Given the description of an element on the screen output the (x, y) to click on. 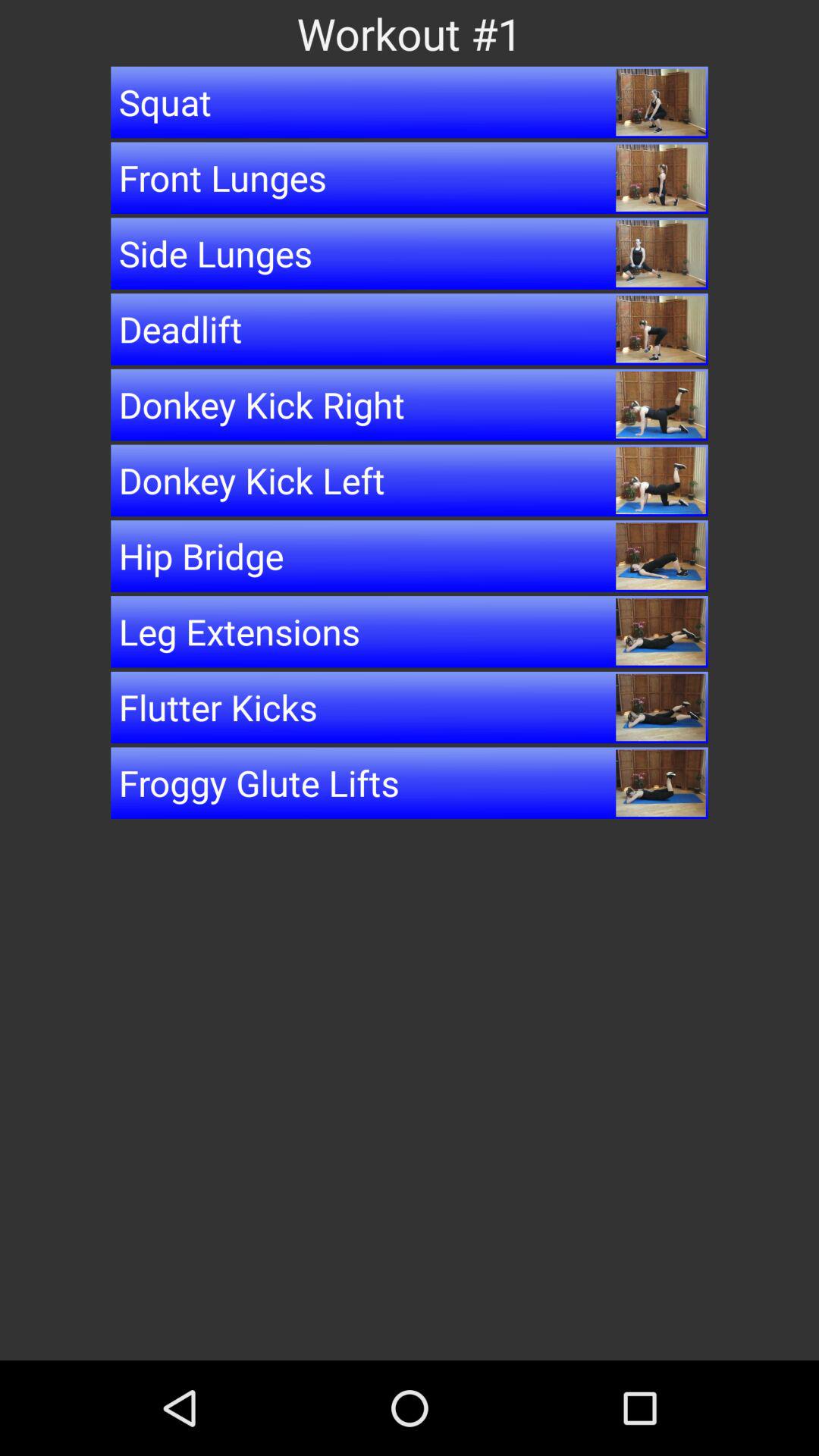
select the front lunges (409, 177)
